Given the description of an element on the screen output the (x, y) to click on. 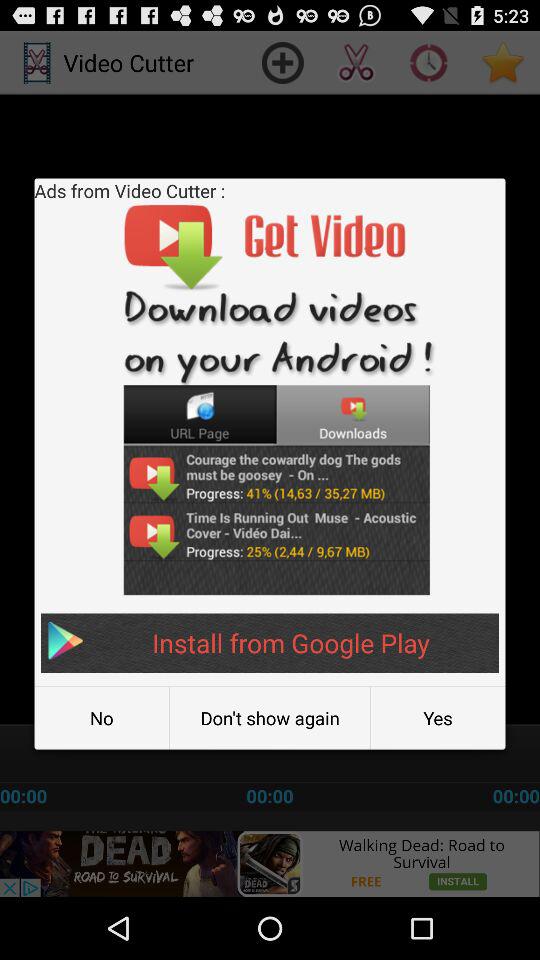
click yes at the bottom right corner (437, 717)
